Given the description of an element on the screen output the (x, y) to click on. 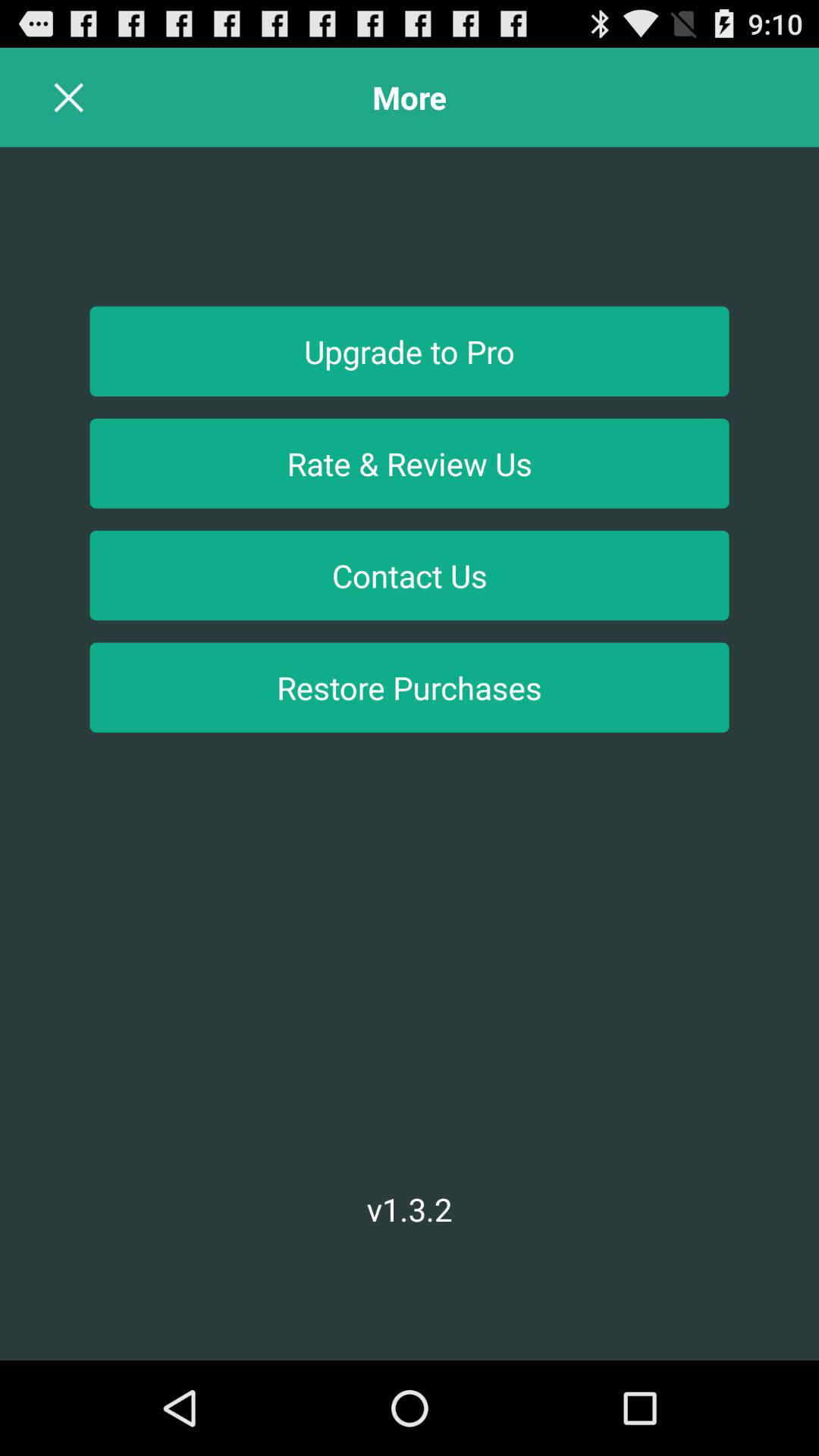
select item above contact us button (409, 463)
